Given the description of an element on the screen output the (x, y) to click on. 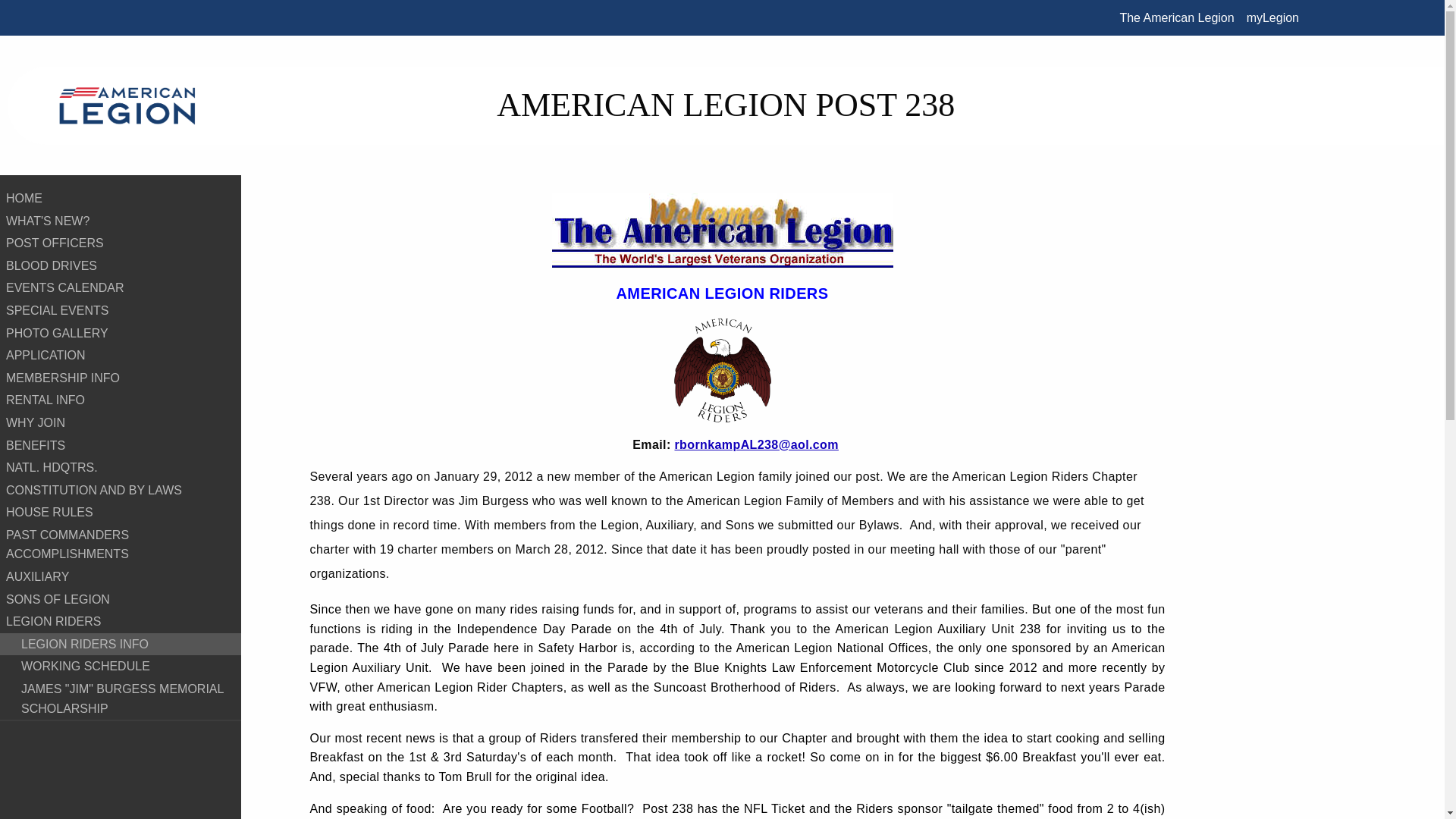
MEMBERSHIP INFO (120, 377)
APPLICATION (120, 354)
WORKING SCHEDULE (120, 666)
HOUSE RULES (120, 512)
PAST COMMANDERS ACCOMPLISHMENTS (120, 544)
LEGION RIDERS INFO (120, 644)
The American Legion (1176, 17)
BLOOD DRIVES (120, 265)
WHAT'S NEW? (120, 220)
American Legion (127, 105)
EVENTS CALENDAR (120, 287)
Legion.org (1176, 17)
myLegion (1272, 17)
PHOTO GALLERY (120, 333)
CONSTITUTION AND BY LAWS (120, 490)
